Given the description of an element on the screen output the (x, y) to click on. 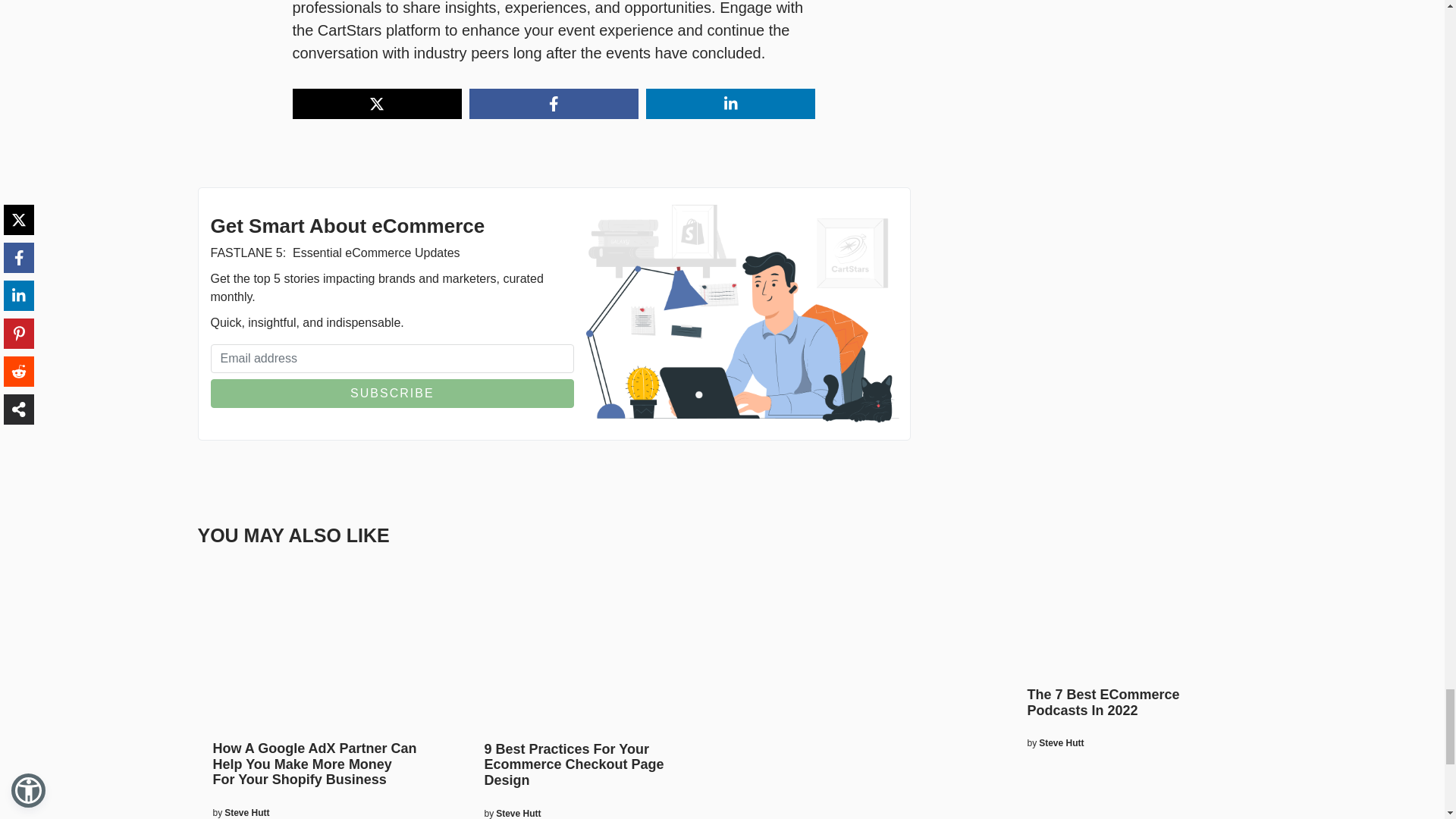
SUBSCRIBE (393, 393)
View all posts by Steve Hutt (1061, 743)
View all posts by Steve Hutt (518, 812)
View all posts by Steve Hutt (246, 812)
